Given the description of an element on the screen output the (x, y) to click on. 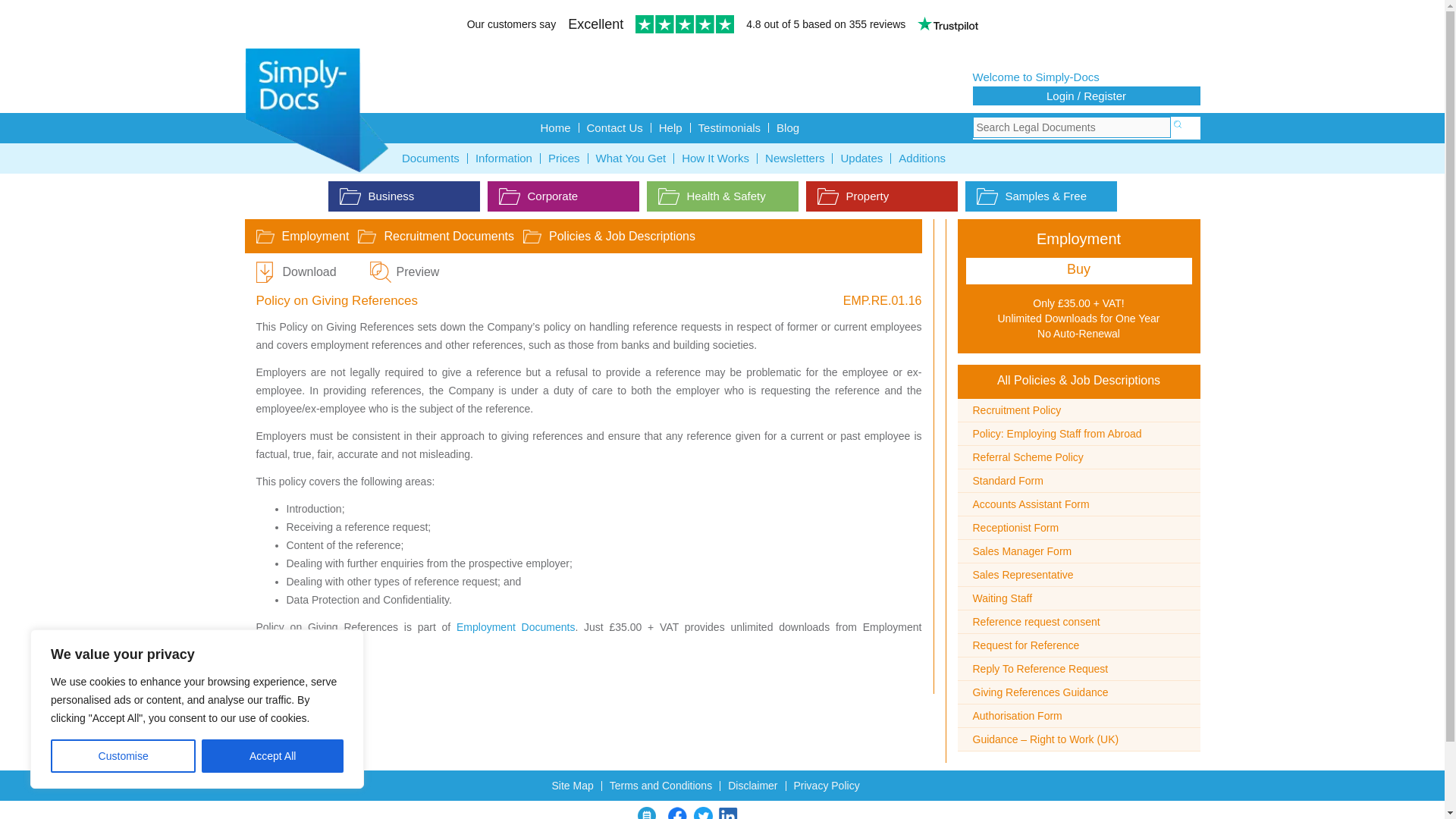
Home (555, 127)
Testimonials (730, 127)
Accept All (272, 756)
Contact Us (614, 127)
Customise (122, 756)
Blog (787, 127)
Customer reviews powered by Trustpilot (721, 25)
Help (670, 127)
